Given the description of an element on the screen output the (x, y) to click on. 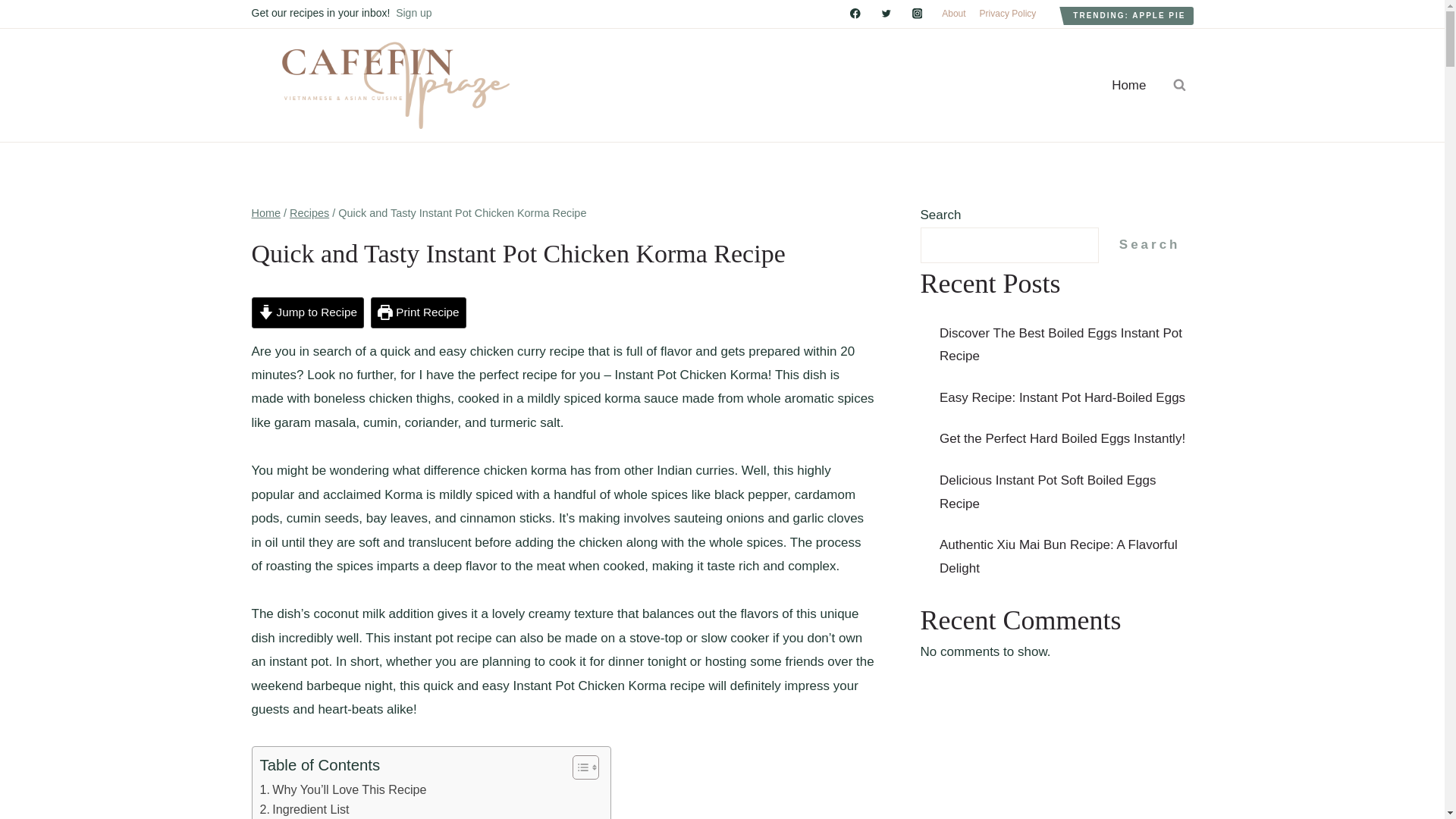
About (953, 13)
TRENDING: APPLE PIE (1128, 15)
Privacy Policy (1007, 13)
Ingredient List (304, 809)
Print Recipe (418, 312)
Home (266, 213)
Home (1128, 84)
Sign up (413, 12)
Jump to Recipe (307, 312)
Ingredient List (304, 809)
Recipes (309, 213)
